Given the description of an element on the screen output the (x, y) to click on. 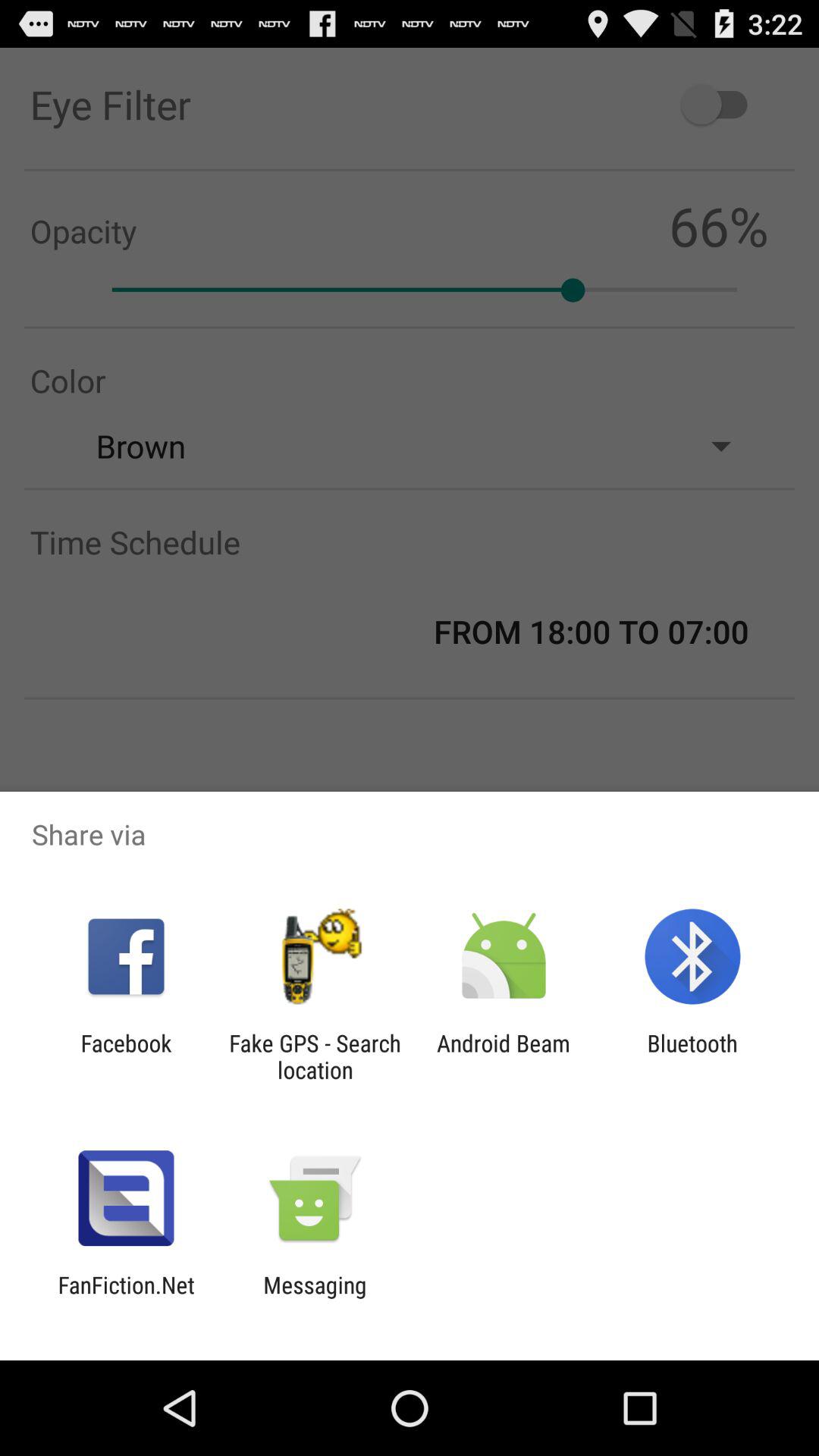
tap item to the right of the facebook item (314, 1056)
